Given the description of an element on the screen output the (x, y) to click on. 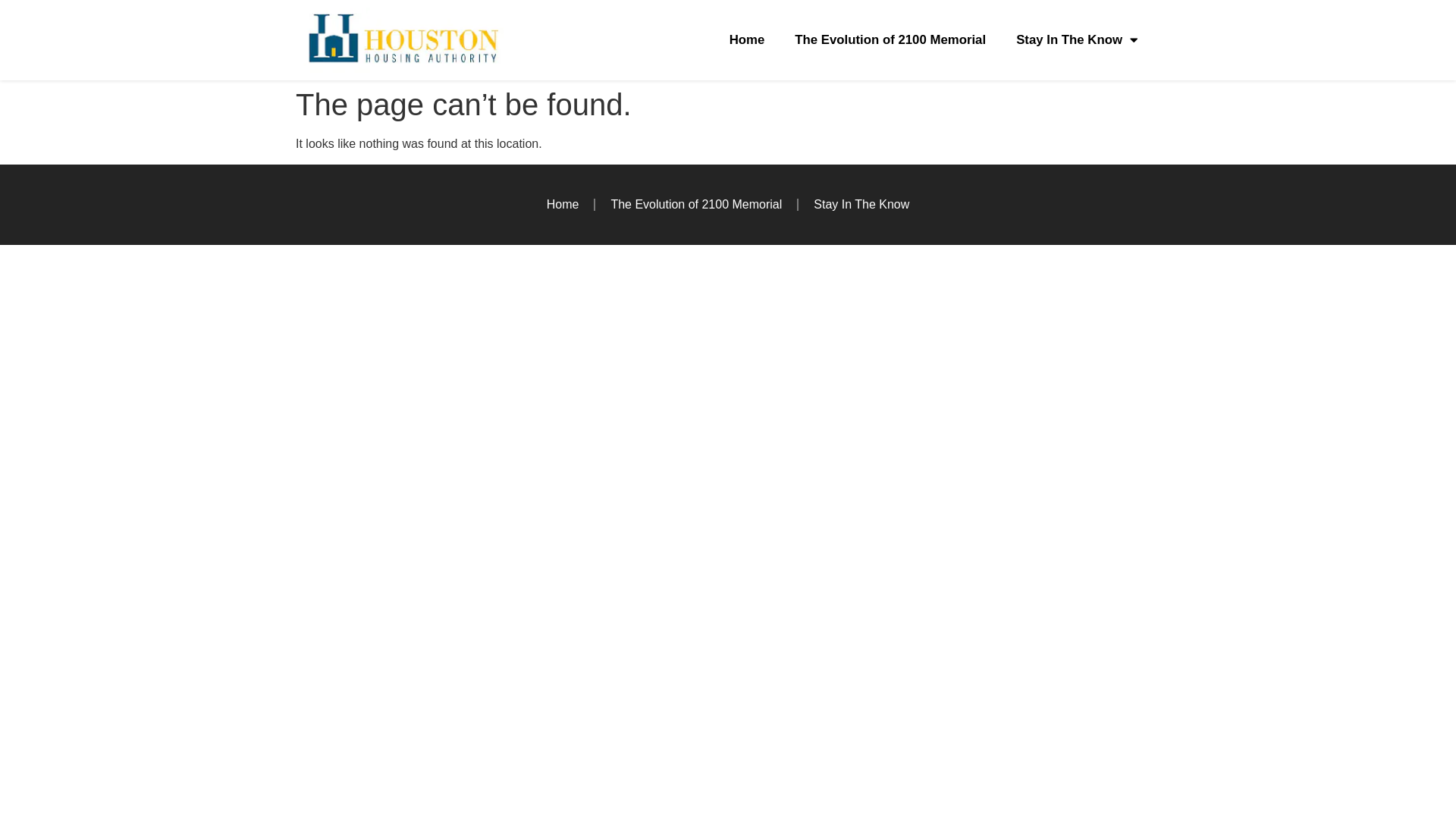
Stay In The Know Element type: text (861, 204)
Home Element type: text (747, 39)
Stay In The Know Element type: text (1076, 39)
The Evolution of 2100 Memorial Element type: text (696, 204)
The Evolution of 2100 Memorial Element type: text (890, 39)
Home Element type: text (562, 204)
